Given the description of an element on the screen output the (x, y) to click on. 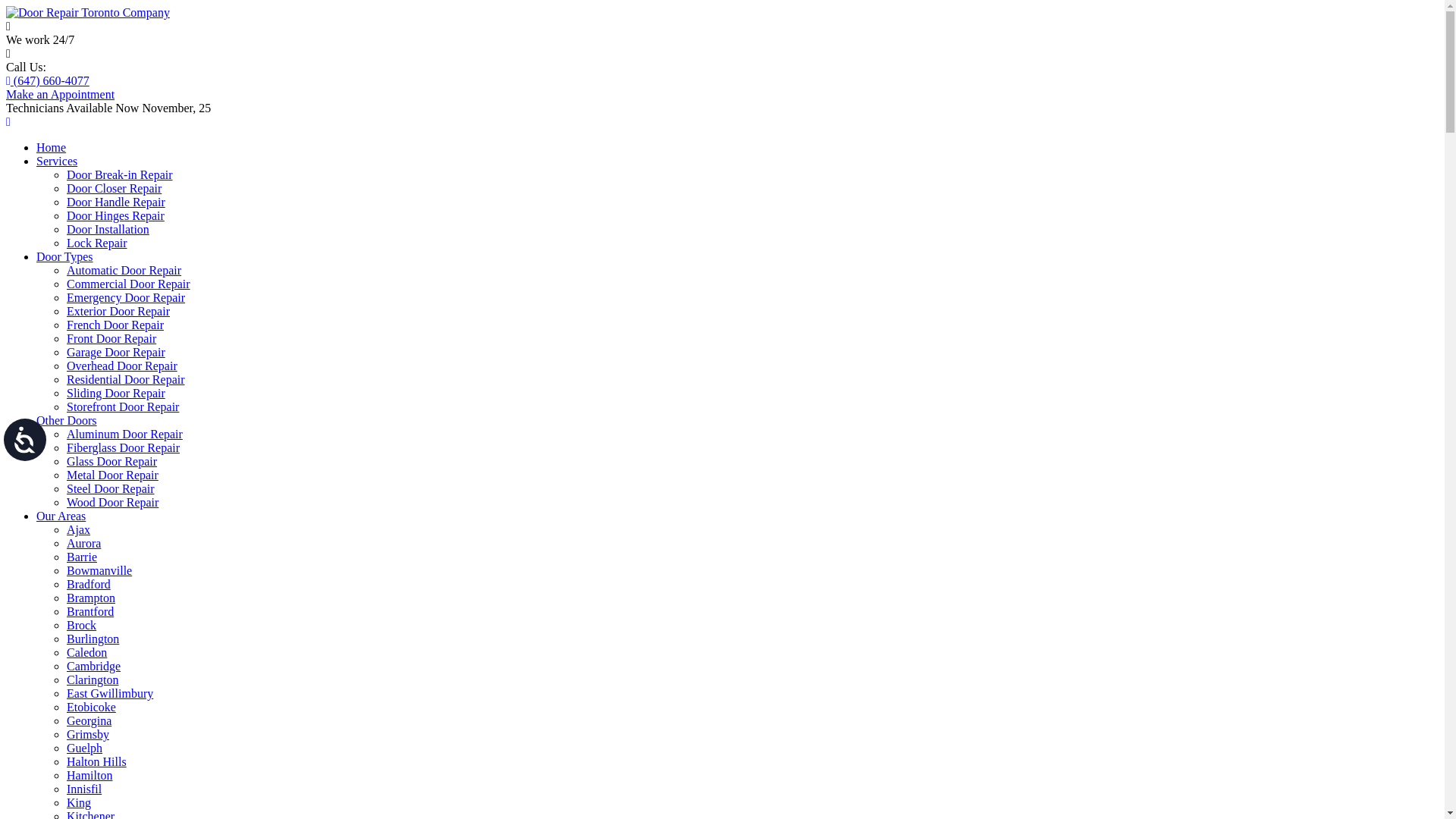
Hamilton Element type: text (89, 774)
Door Closer Repair Element type: text (113, 188)
Our Areas Element type: text (60, 515)
Commercial Door Repair Element type: text (128, 283)
Fiberglass Door Repair Element type: text (122, 447)
Lock Repair Element type: text (96, 242)
French Door Repair Element type: text (114, 324)
Cambridge Element type: text (93, 665)
Front Door Repair Element type: text (111, 338)
Brampton Element type: text (90, 597)
Emergency Door Repair Element type: text (125, 297)
Aluminum Door Repair Element type: text (124, 433)
Caledon Element type: text (86, 652)
Door Handle Repair Element type: text (115, 201)
Georgina Element type: text (88, 720)
Accessibility Element type: text (33, 448)
Storefront Door Repair Element type: text (122, 406)
Grimsby Element type: text (87, 734)
Services Element type: text (56, 160)
Home Element type: text (50, 147)
Garage Door Repair Element type: text (115, 351)
Exterior Door Repair Element type: text (117, 310)
Guelph Element type: text (84, 747)
King Element type: text (78, 802)
Innisfil Element type: text (83, 788)
Bowmanville Element type: text (98, 570)
Etobicoke Element type: text (91, 706)
Brock Element type: text (81, 624)
Sliding Door Repair Element type: text (115, 392)
Door Types Element type: text (64, 256)
Overhead Door Repair Element type: text (121, 365)
Door Repair Toronto Company Element type: hover (87, 12)
Door Hinges Repair Element type: text (115, 215)
Residential Door Repair Element type: text (125, 379)
Burlington Element type: text (92, 638)
Halton Hills Element type: text (96, 761)
Aurora Element type: text (83, 542)
Bradford Element type: text (88, 583)
Metal Door Repair Element type: text (112, 474)
Wood Door Repair Element type: text (112, 501)
Barrie Element type: text (81, 556)
Ajax Element type: text (78, 529)
Door Break-in Repair Element type: text (119, 174)
East Gwillimbury Element type: text (109, 693)
Clarington Element type: text (92, 679)
(647) 660-4077 Element type: text (47, 80)
Glass Door Repair Element type: text (111, 461)
Door Installation Element type: text (107, 228)
Steel Door Repair Element type: text (110, 488)
Other Doors Element type: text (66, 420)
Brantford Element type: text (89, 611)
Automatic Door Repair Element type: text (123, 269)
Make an Appointment Element type: text (60, 93)
